Given the description of an element on the screen output the (x, y) to click on. 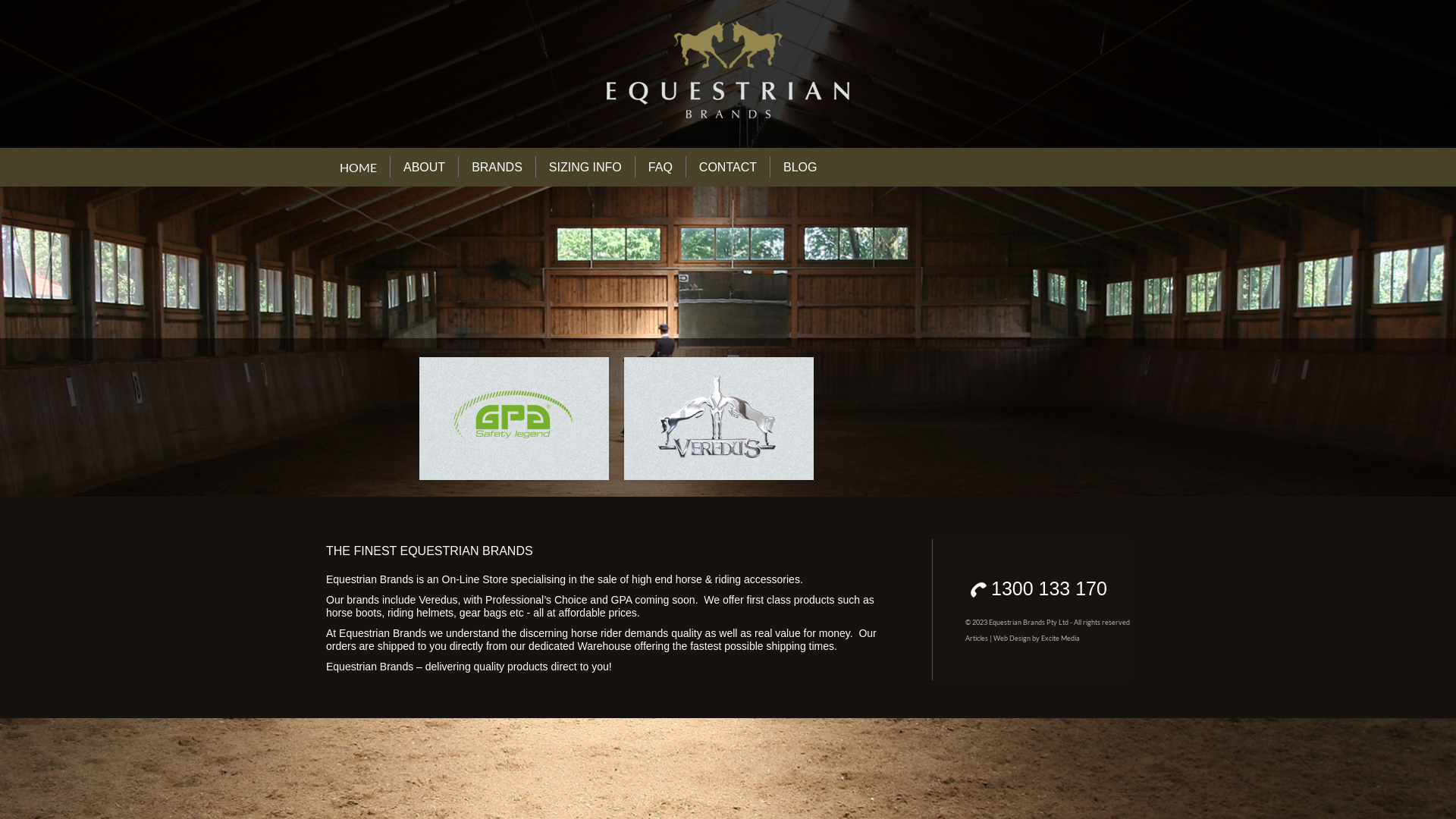
HOME Element type: text (358, 166)
Articles Element type: text (976, 637)
BRANDS Element type: text (497, 166)
Web Design by Excite Media Element type: text (1036, 637)
BLOG Element type: text (799, 166)
FAQ Element type: text (660, 166)
ABOUT Element type: text (423, 166)
CONTACT Element type: text (727, 166)
SIZING INFO Element type: text (585, 166)
